Given the description of an element on the screen output the (x, y) to click on. 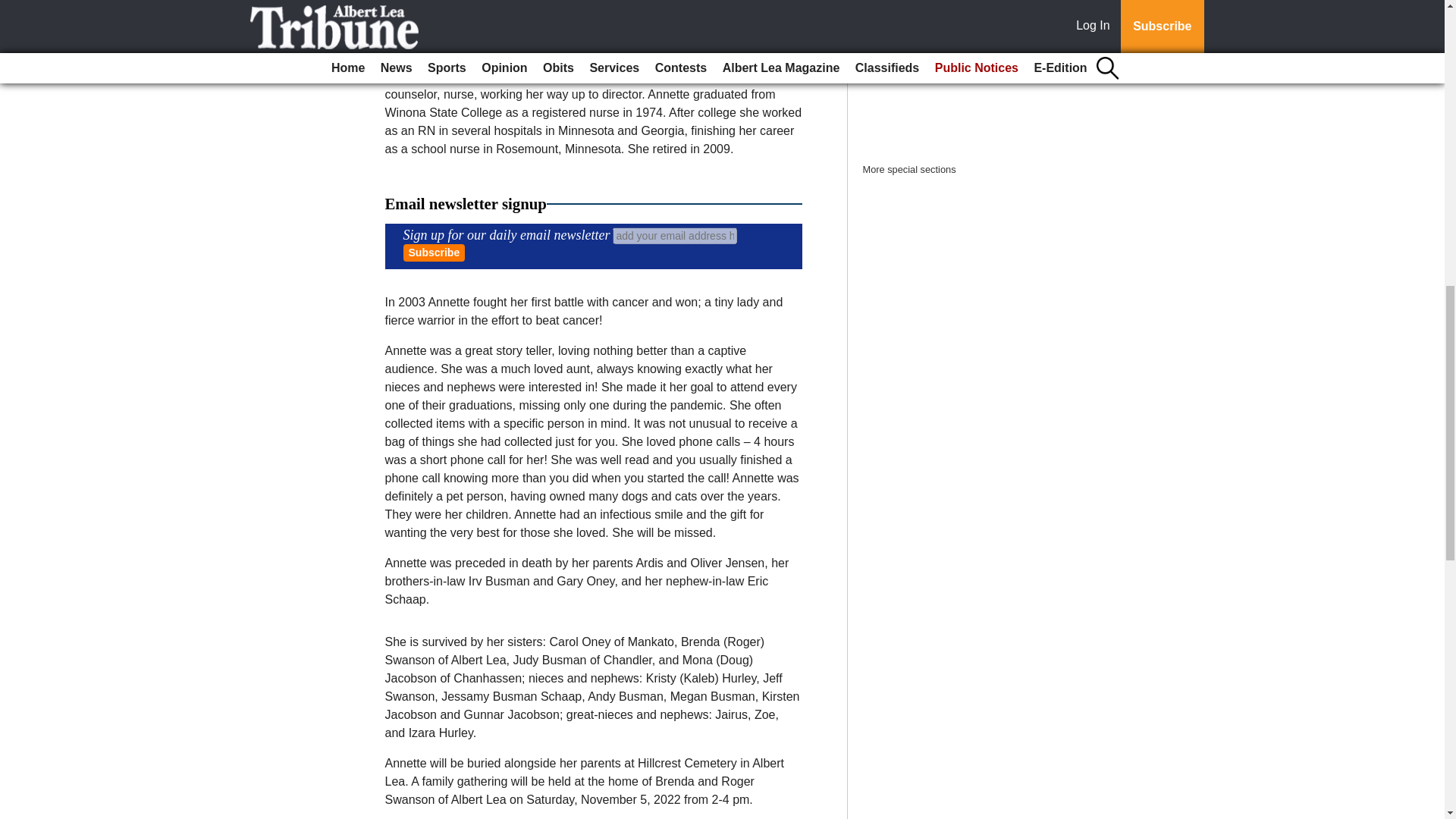
Subscribe (434, 252)
